Given the description of an element on the screen output the (x, y) to click on. 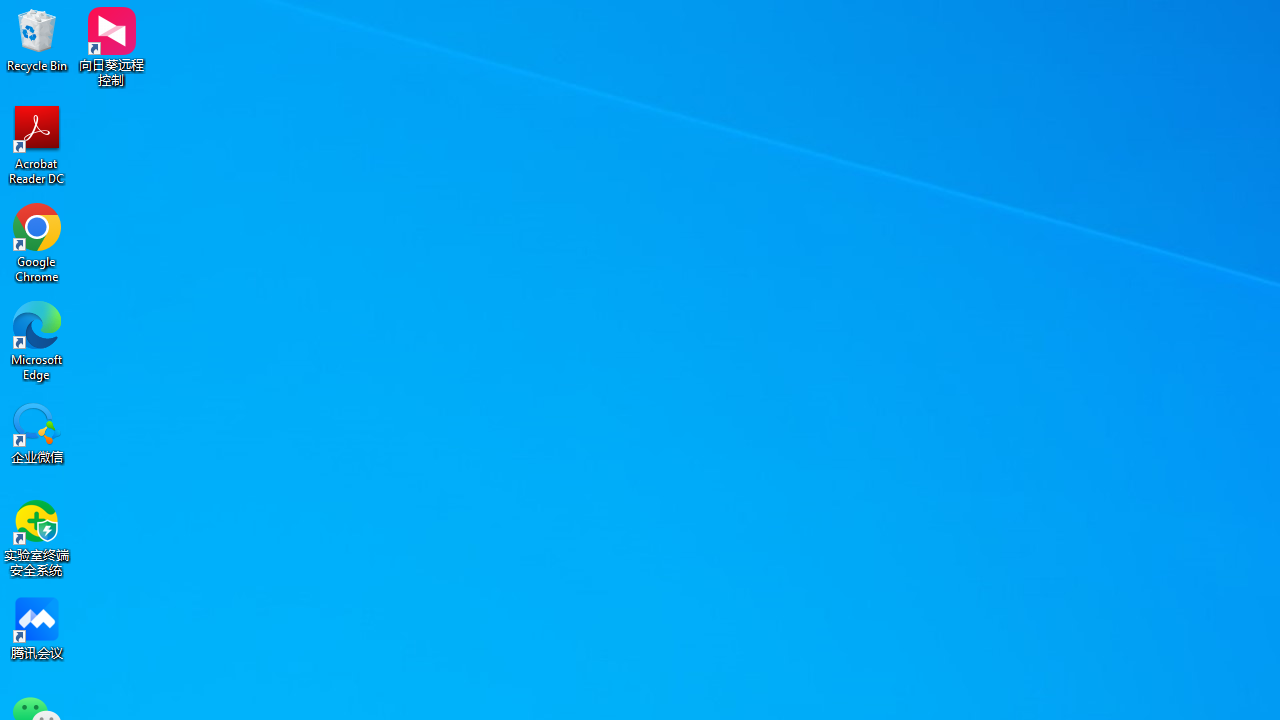
Layout (252, 78)
Bold (320, 119)
Underline (369, 119)
